Given the description of an element on the screen output the (x, y) to click on. 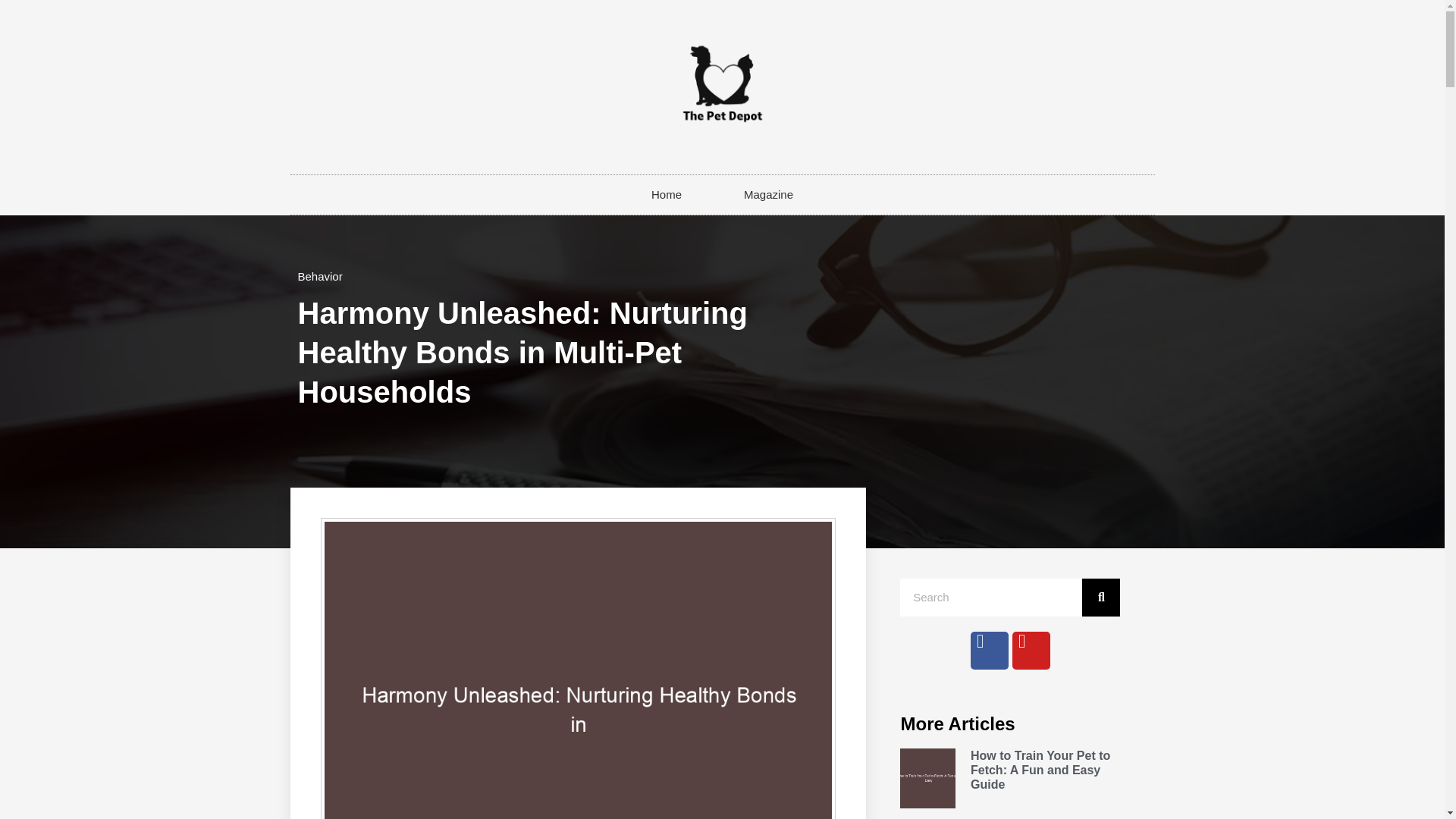
How to Train Your Pet to Fetch: A Fun and Easy Guide (1040, 770)
Home (666, 194)
Behavior (319, 276)
Magazine (768, 194)
